Given the description of an element on the screen output the (x, y) to click on. 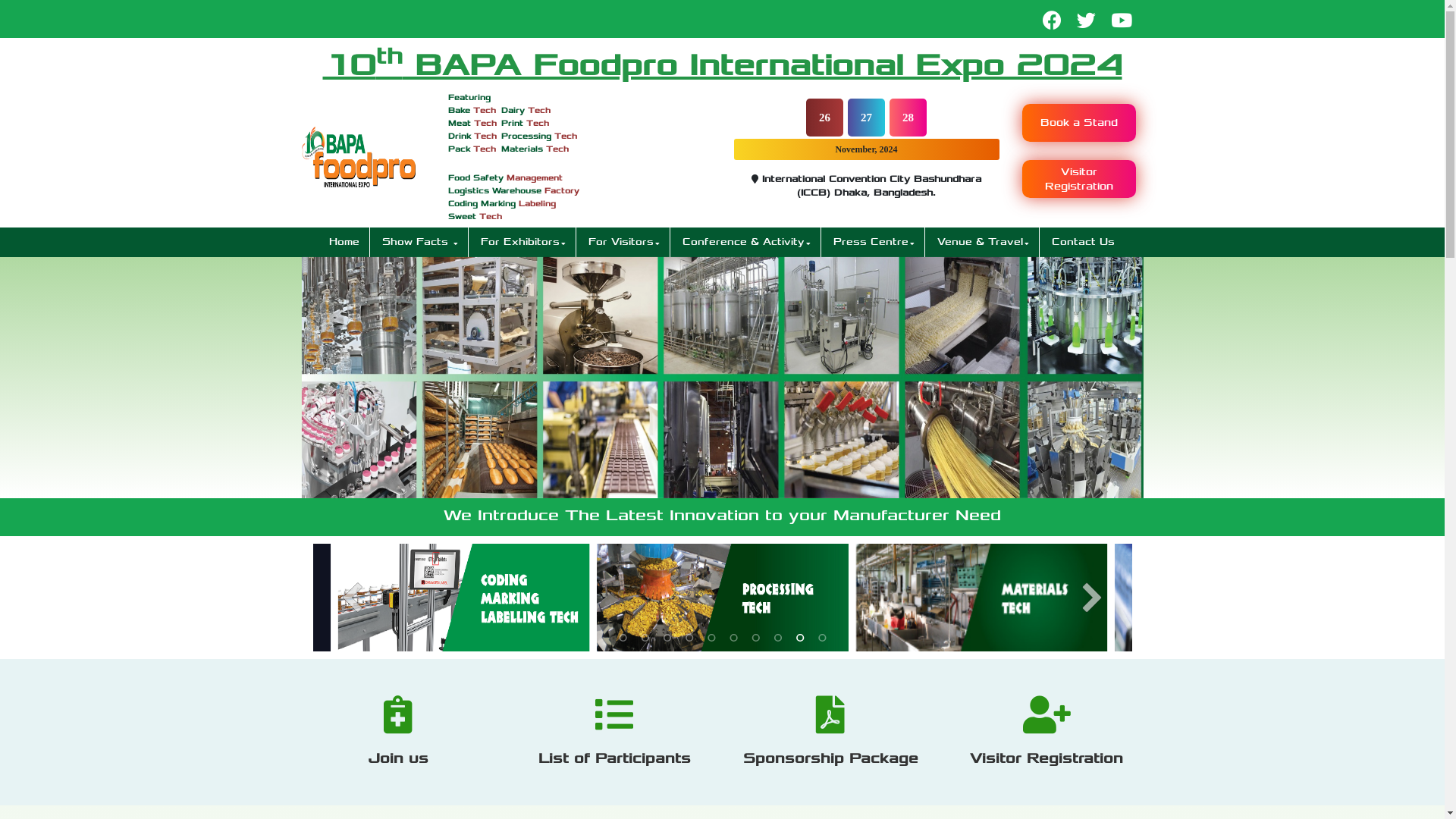
Contact Us Element type: text (1083, 242)
Home Element type: text (343, 242)
List of Participants Element type: text (614, 740)
Sponsorship Package Element type: text (830, 740)
Book a Stand Element type: text (1078, 121)
Venue & Travel Element type: text (982, 242)
Visitor Registration Element type: text (1046, 740)
Join us Element type: text (397, 740)
Visitor Registration Element type: text (1078, 170)
Visitor Registration Element type: text (1078, 178)
Press Centre Element type: text (873, 242)
Conference & Activity Element type: text (745, 242)
For Exhibitors Element type: text (522, 242)
Show Facts Element type: text (419, 242)
Book a Stand Element type: text (1078, 122)
For Visitors Element type: text (623, 242)
